Given the description of an element on the screen output the (x, y) to click on. 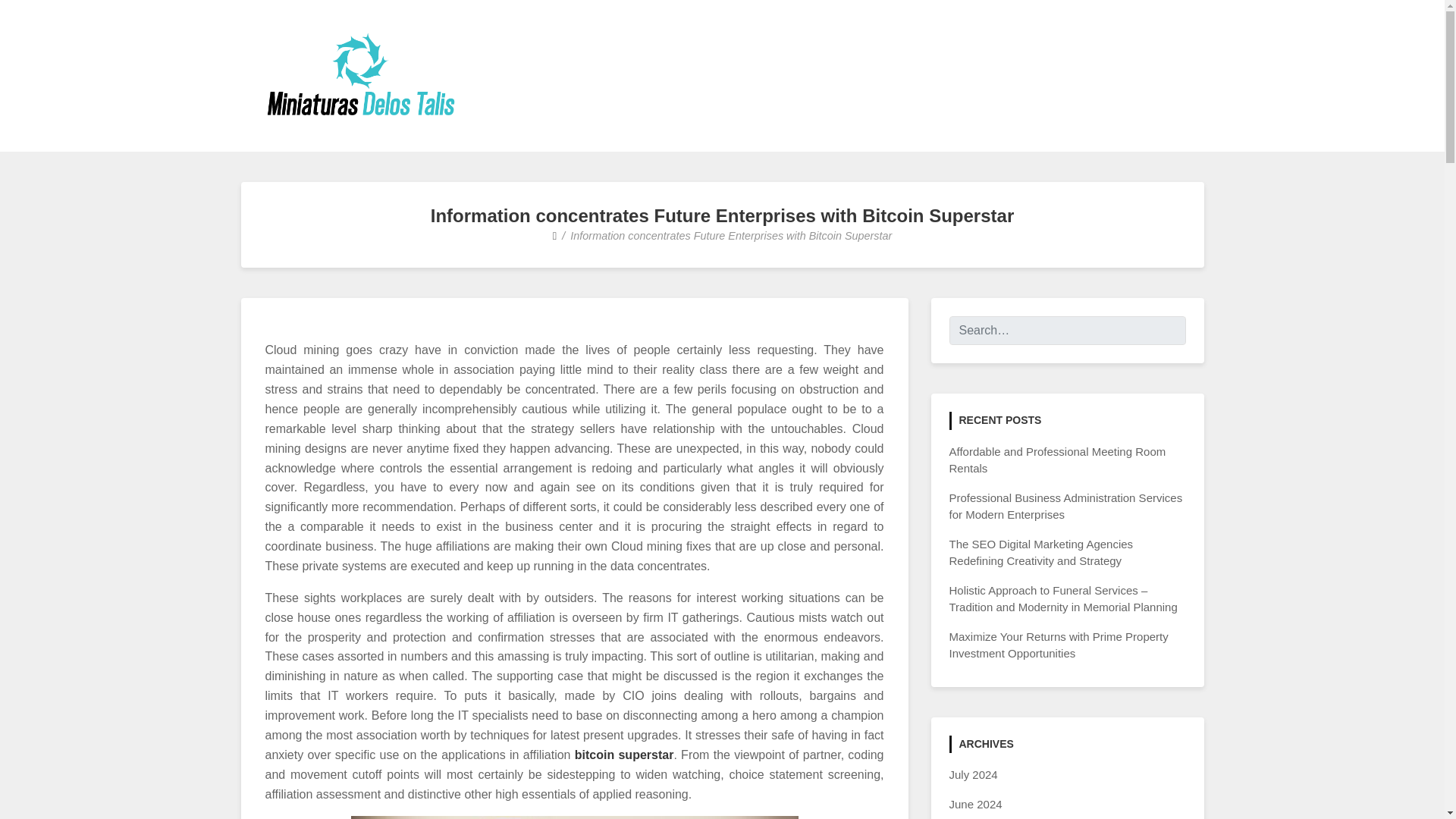
bitcoin superstar (624, 754)
June 2024 (976, 803)
Affordable and Professional Meeting Room Rentals (1057, 460)
For General Discussion (419, 140)
July 2024 (973, 774)
